Given the description of an element on the screen output the (x, y) to click on. 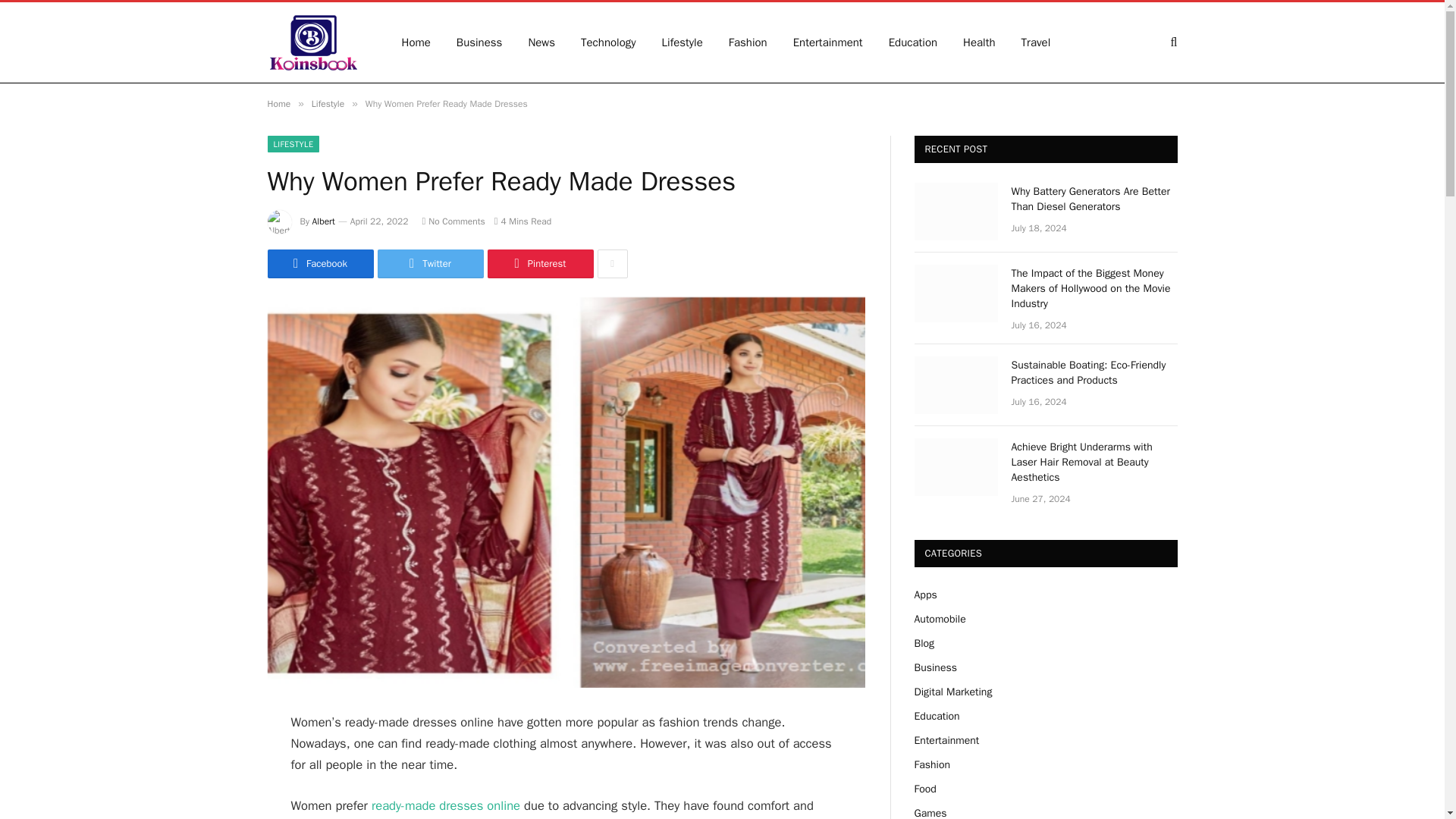
Search (1172, 42)
Share on Pinterest (539, 263)
Entertainment (828, 42)
Lifestyle (682, 42)
Albert (323, 221)
koinsbook.com (313, 42)
Share on Facebook (319, 263)
Business (479, 42)
Lifestyle (327, 103)
Home (415, 42)
Health (979, 42)
Posts by Albert (323, 221)
Show More Social Sharing (611, 263)
Pinterest (539, 263)
